Given the description of an element on the screen output the (x, y) to click on. 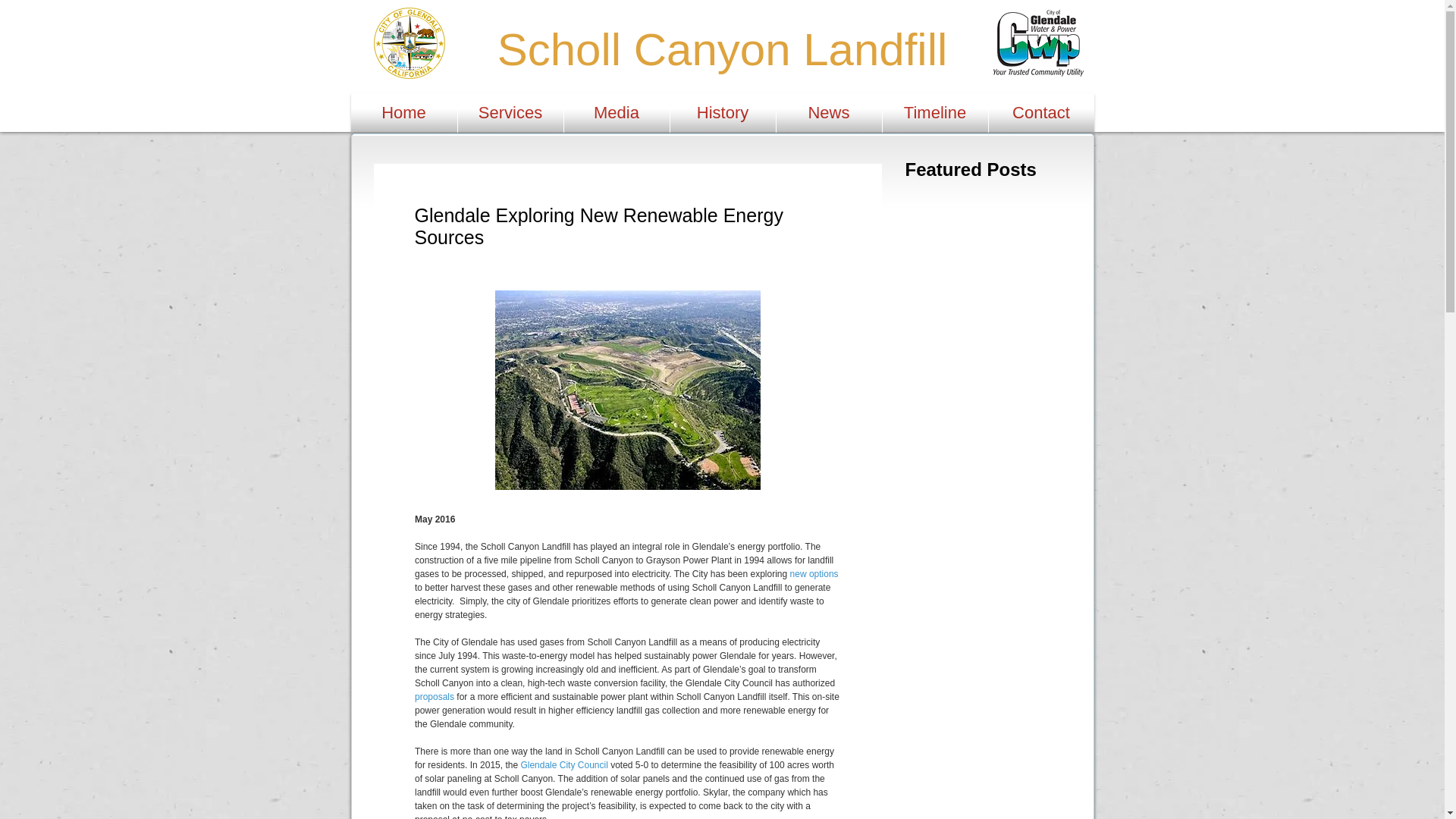
proposals (432, 696)
Media (616, 112)
Services (510, 112)
new options (813, 573)
Contact (1041, 112)
Timeline (935, 112)
Home (403, 112)
News (829, 112)
Scholl Canyon Landfill (722, 49)
Glendale City Council (563, 765)
History (722, 112)
